Given the description of an element on the screen output the (x, y) to click on. 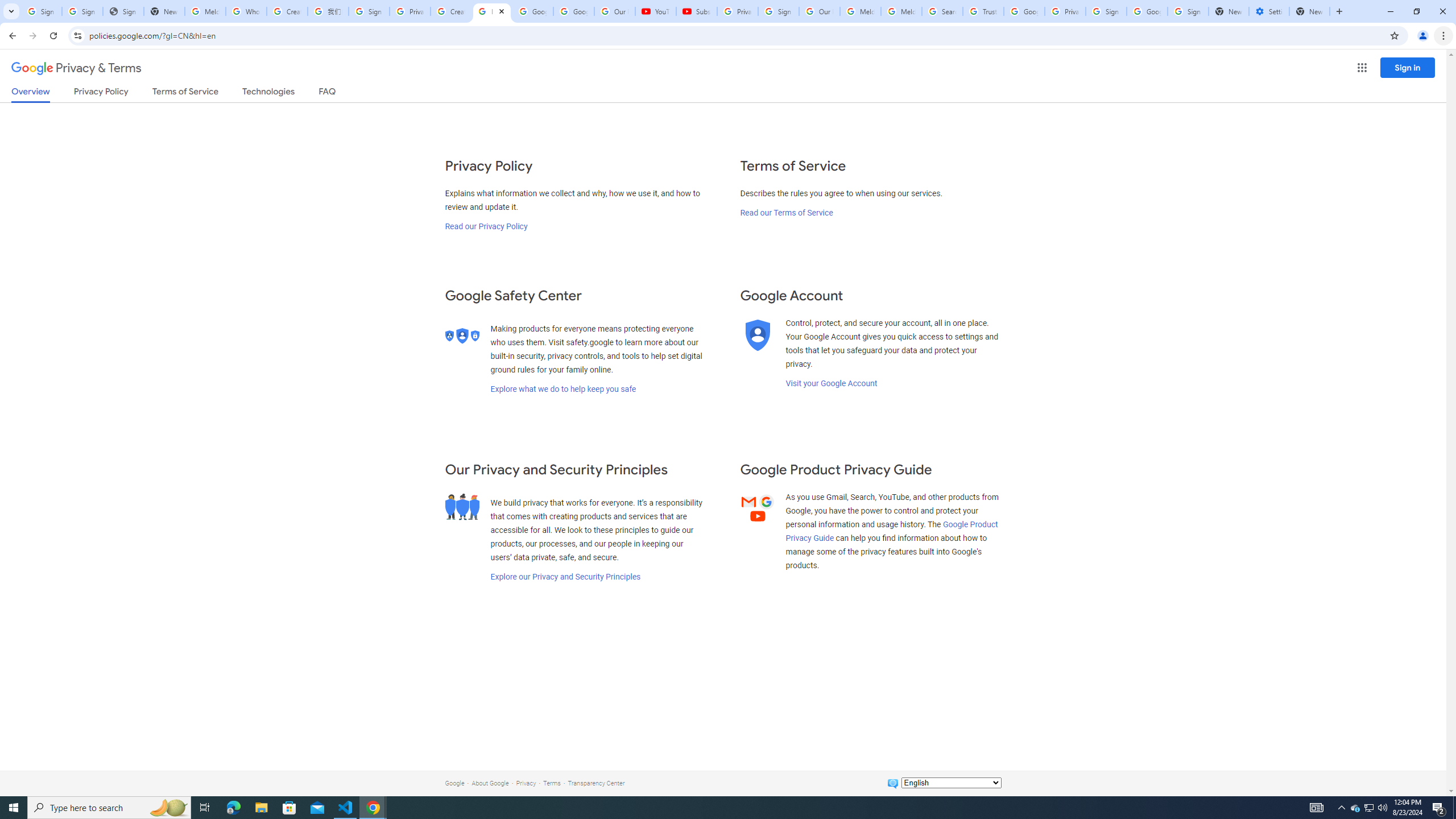
Google Cybersecurity Innovations - Google Safety Center (1146, 11)
Settings - Addresses and more (1268, 11)
Search our Doodle Library Collection - Google Doodles (942, 11)
Visit your Google Account (830, 383)
Google (454, 783)
Sign In - USA TODAY (122, 11)
Read our Terms of Service (785, 212)
Trusted Information and Content - Google Safety Center (983, 11)
